Given the description of an element on the screen output the (x, y) to click on. 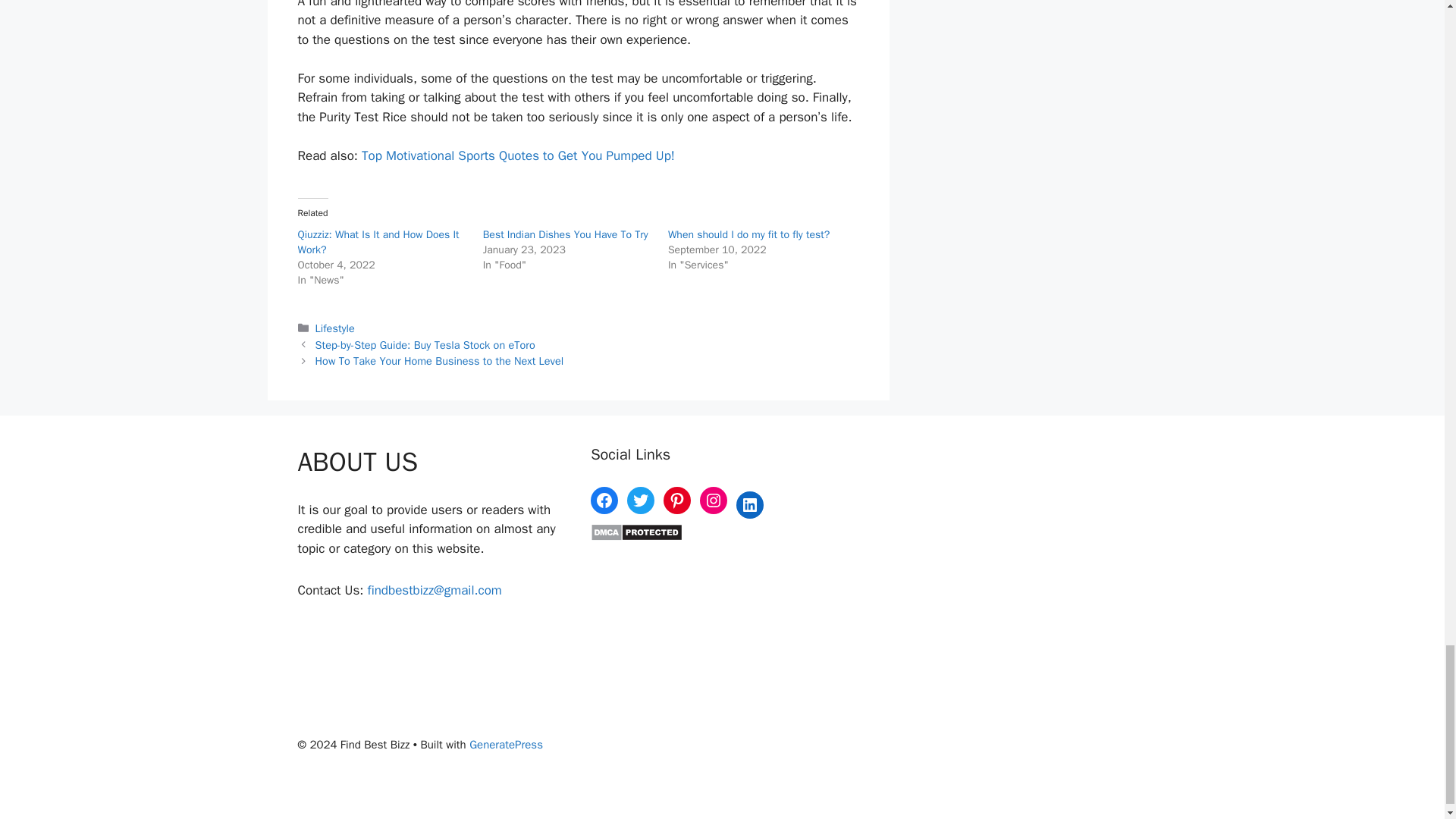
Lifestyle (335, 327)
DMCA.com Protection Status (636, 537)
Best Indian Dishes You Have To Try (565, 234)
When should I do my fit to fly test? (748, 234)
Top Motivational Sports Quotes to Get You Pumped Up! (518, 155)
Qiuzziz: What Is It and How Does It Work? (377, 242)
Step-by-Step Guide: Buy Tesla Stock on eToro (425, 345)
Qiuzziz: What Is It and How Does It Work? (377, 242)
How To Take Your Home Business to the Next Level (439, 360)
Best Indian Dishes You Have To Try (565, 234)
